Given the description of an element on the screen output the (x, y) to click on. 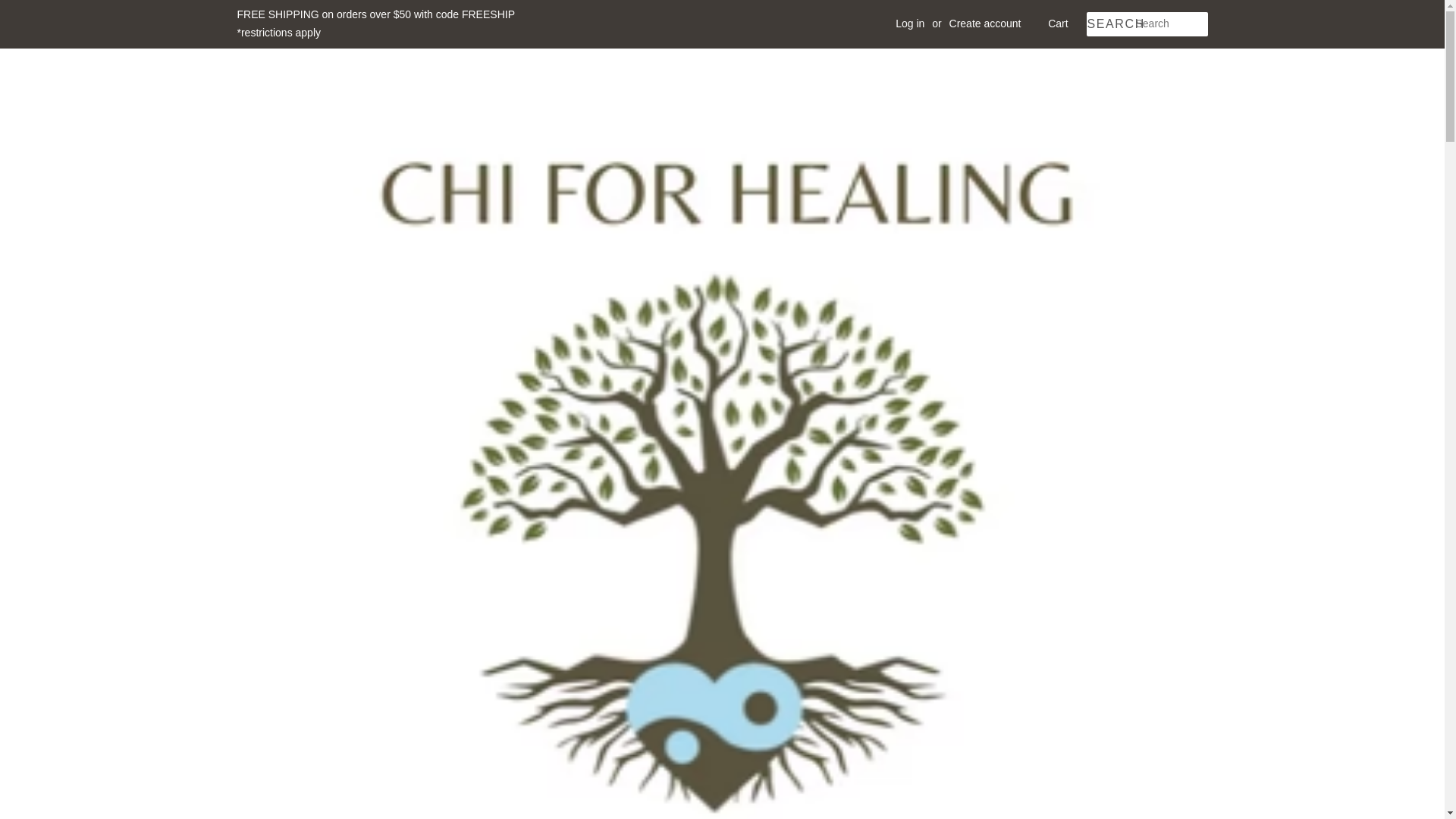
Log in (909, 23)
Create account (985, 23)
Cart (1057, 24)
SEARCH (1110, 24)
